Given the description of an element on the screen output the (x, y) to click on. 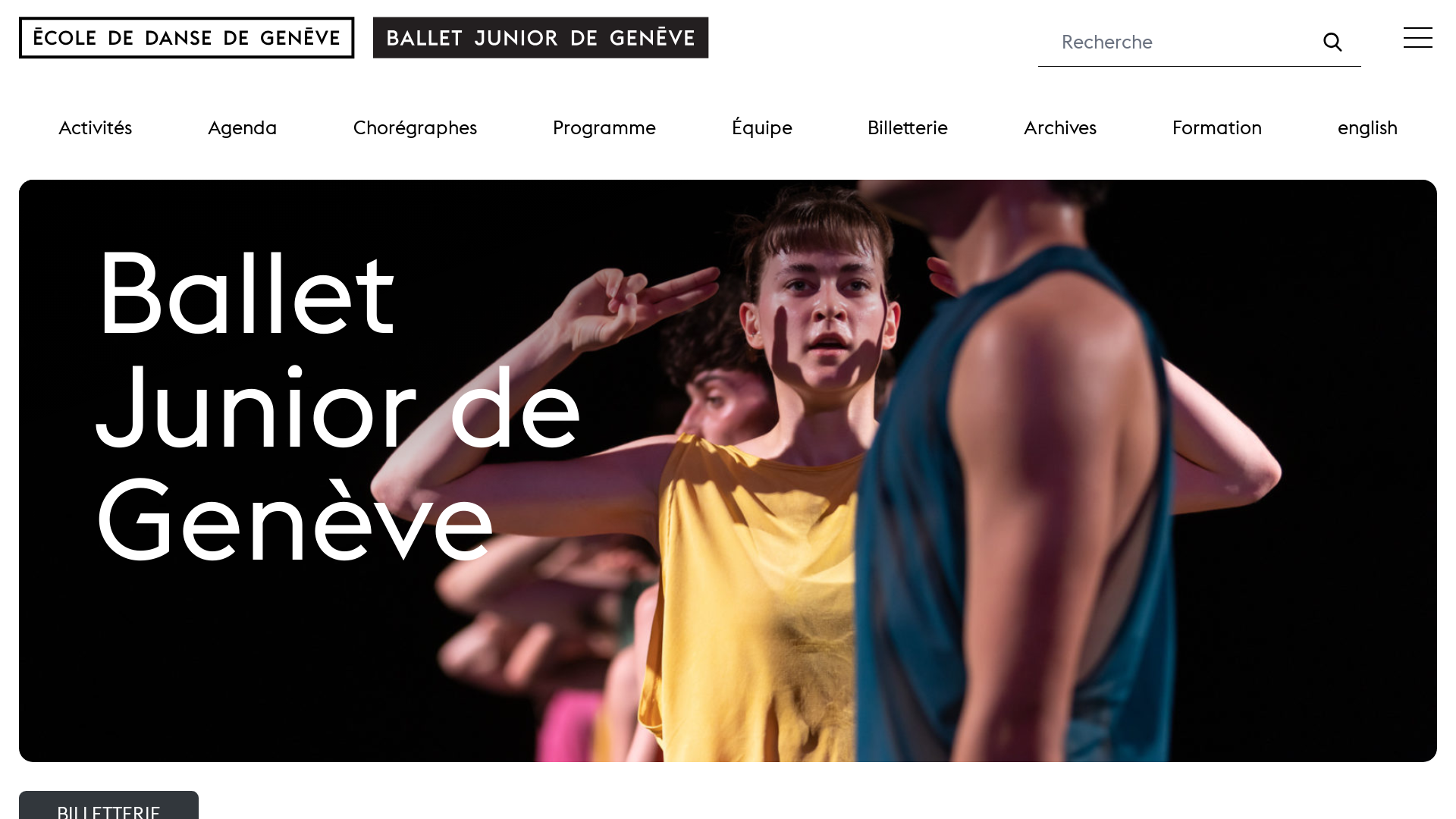
Billetterie Element type: text (907, 127)
Formation Element type: text (1216, 127)
Programme Element type: text (603, 127)
Agenda Element type: text (242, 127)
english Element type: text (1367, 127)
Archives Element type: text (1059, 127)
